Given the description of an element on the screen output the (x, y) to click on. 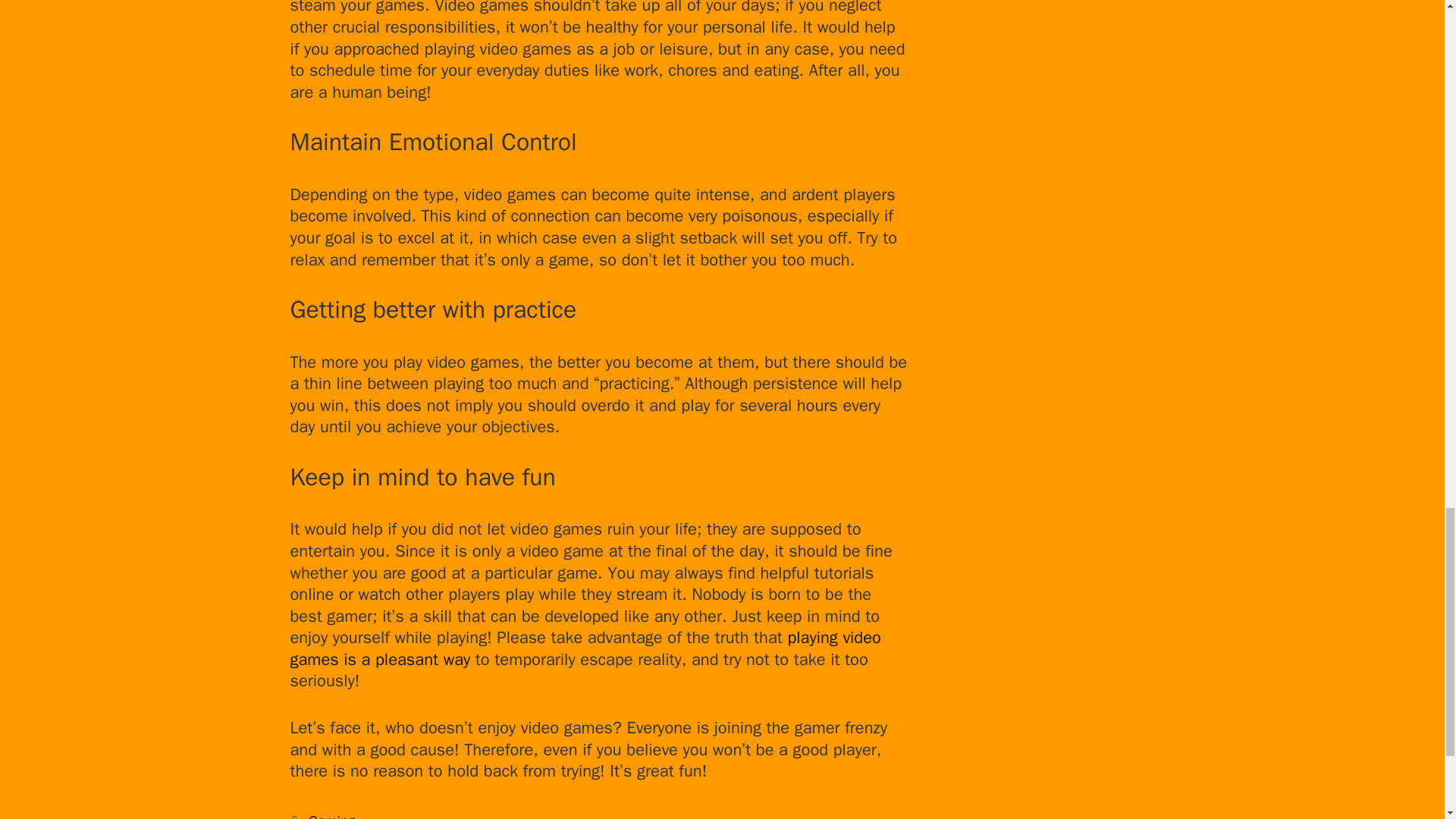
Gaming (331, 815)
playing video games is a pleasant way (584, 648)
